Given the description of an element on the screen output the (x, y) to click on. 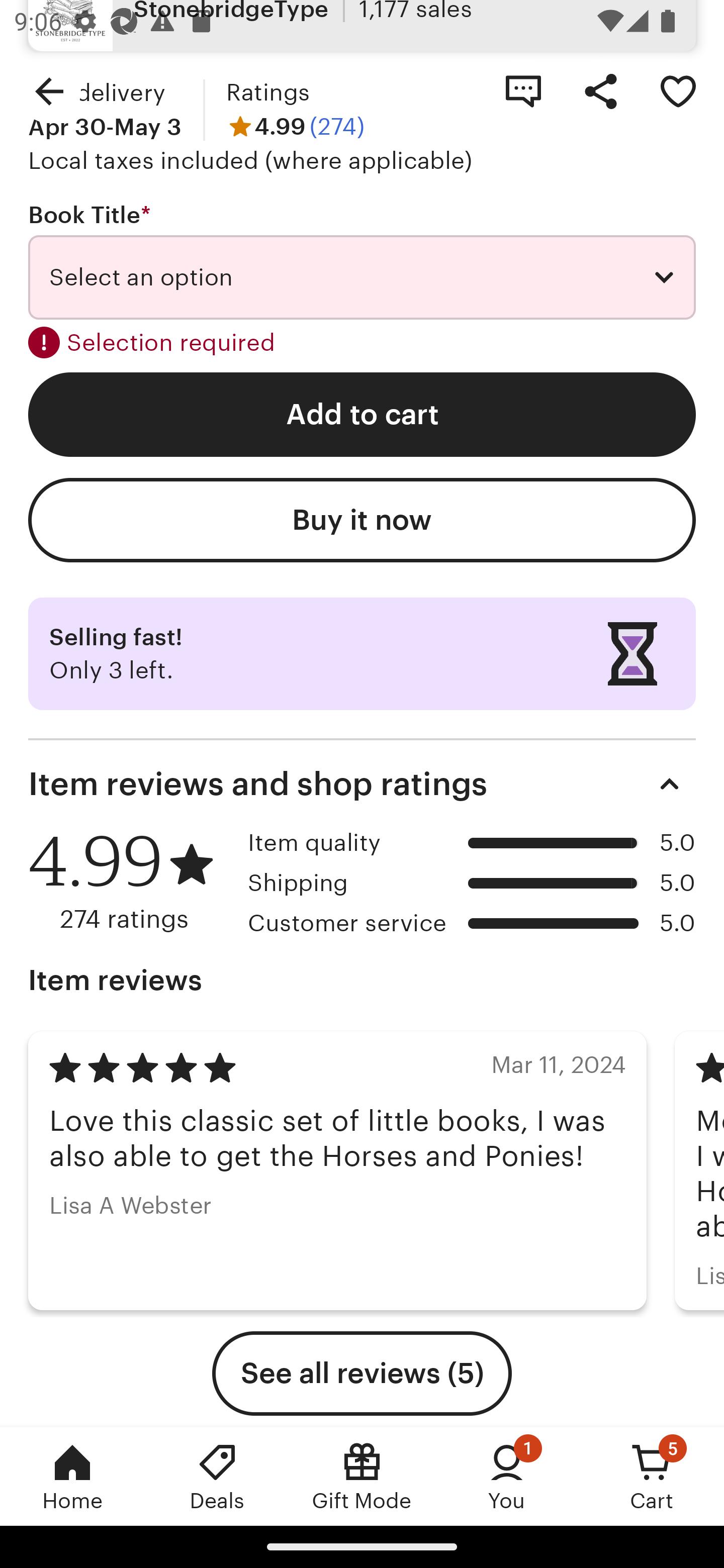
Navigate up (49, 90)
Contact shop (523, 90)
Share (600, 90)
Ratings (267, 92)
4.99 (274) (294, 126)
Select an option (361, 277)
Add to cart (361, 414)
Buy it now (361, 520)
Item reviews and shop ratings (362, 783)
4.99 274 ratings (130, 880)
See all reviews (5) (361, 1373)
Deals (216, 1475)
Gift Mode (361, 1475)
You, 1 new notification You (506, 1475)
Cart, 5 new notifications Cart (651, 1475)
